Given the description of an element on the screen output the (x, y) to click on. 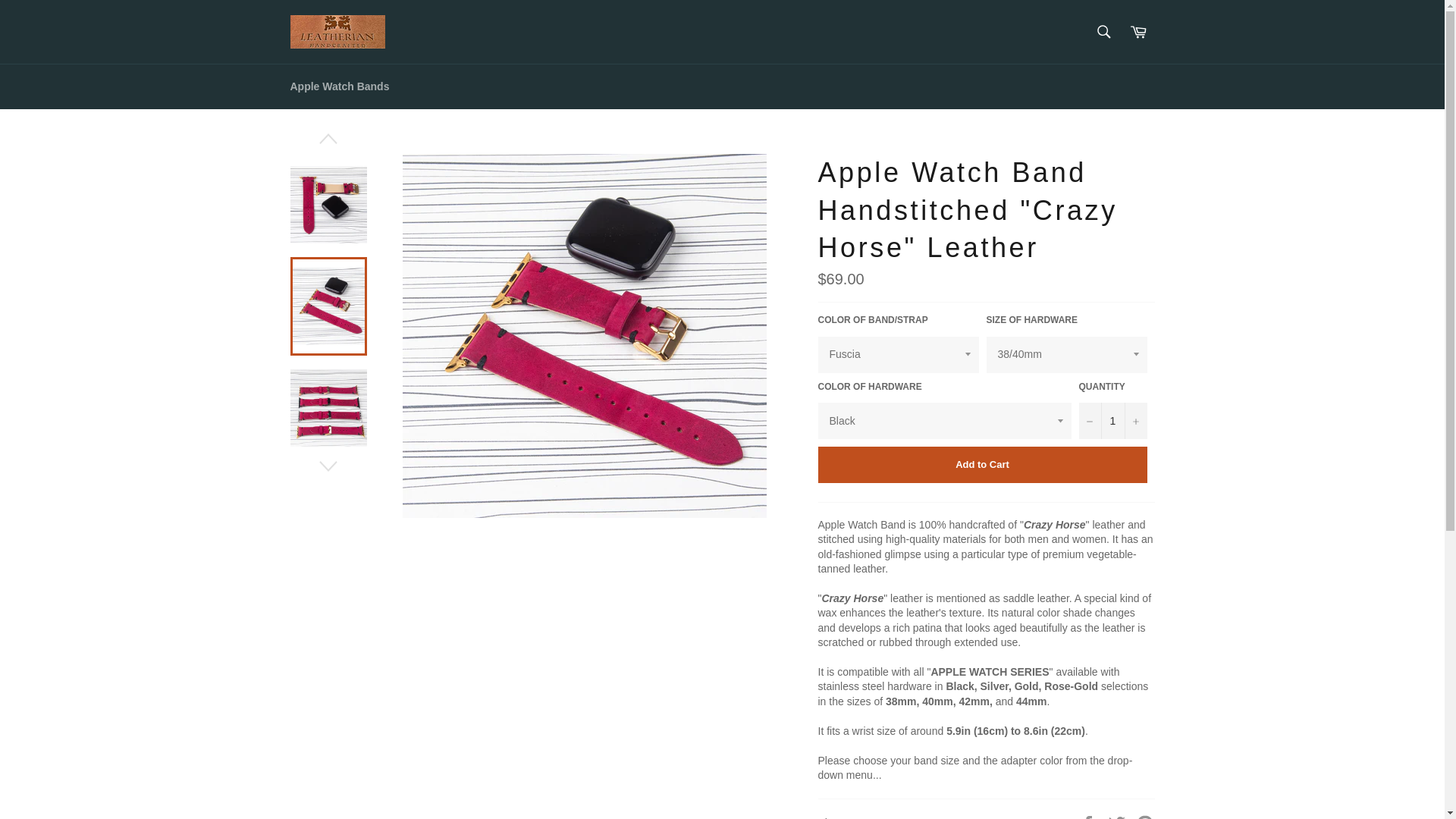
Share on Facebook (1089, 817)
Tweet on Twitter (1118, 817)
1 (1112, 420)
Apple Watch Bands (339, 86)
Pin on Pinterest (1144, 817)
Cart (1138, 31)
Search (1103, 31)
